Given the description of an element on the screen output the (x, y) to click on. 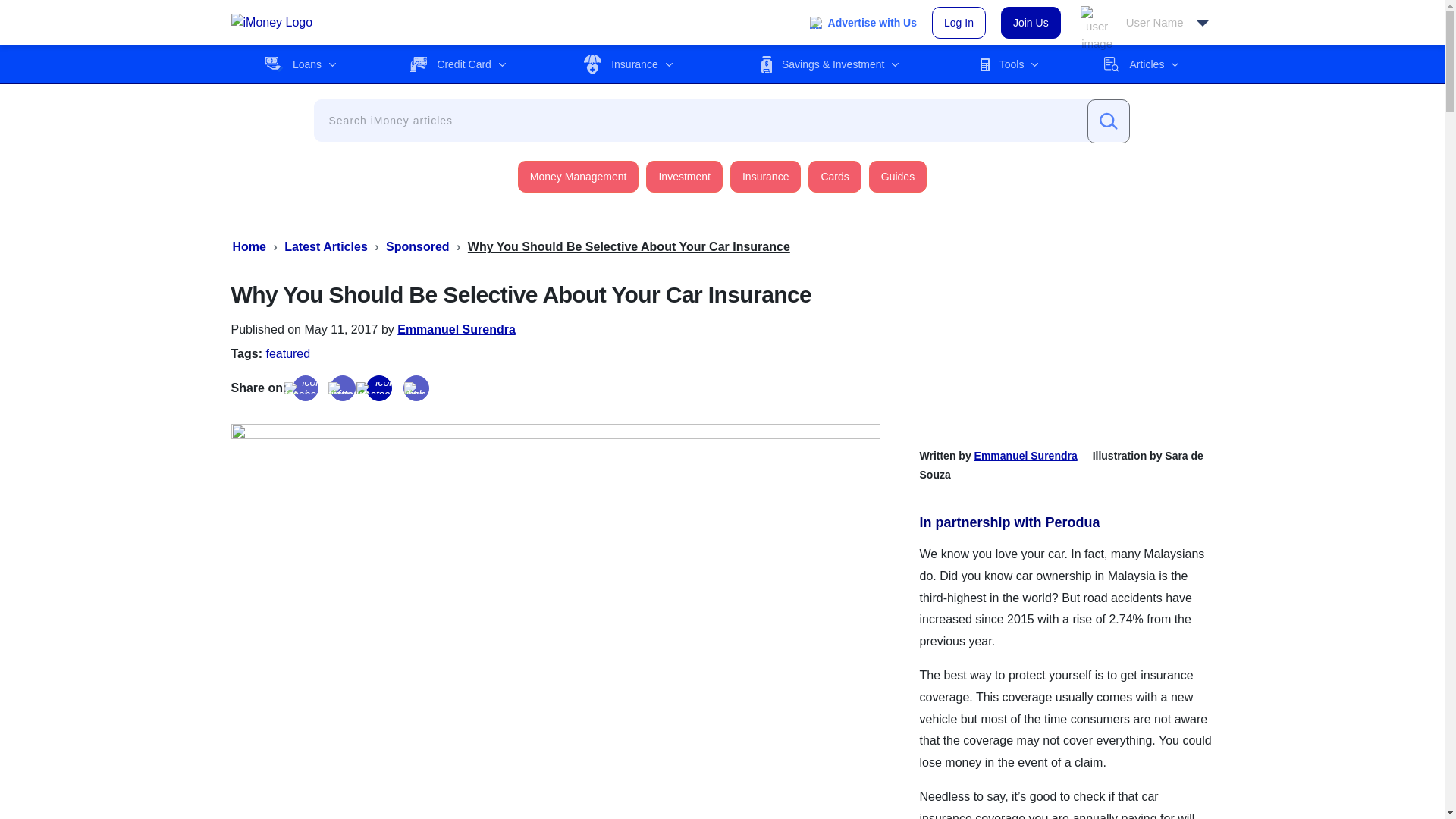
Posts by Emmanuel Surendra (456, 328)
Loans (299, 64)
Advertise with Us (863, 23)
Search (1108, 121)
Copy Link (416, 388)
iMoney (271, 22)
User Name (1144, 22)
Twitter (342, 388)
Whatsapp (378, 388)
Credit Card (457, 64)
